Given the description of an element on the screen output the (x, y) to click on. 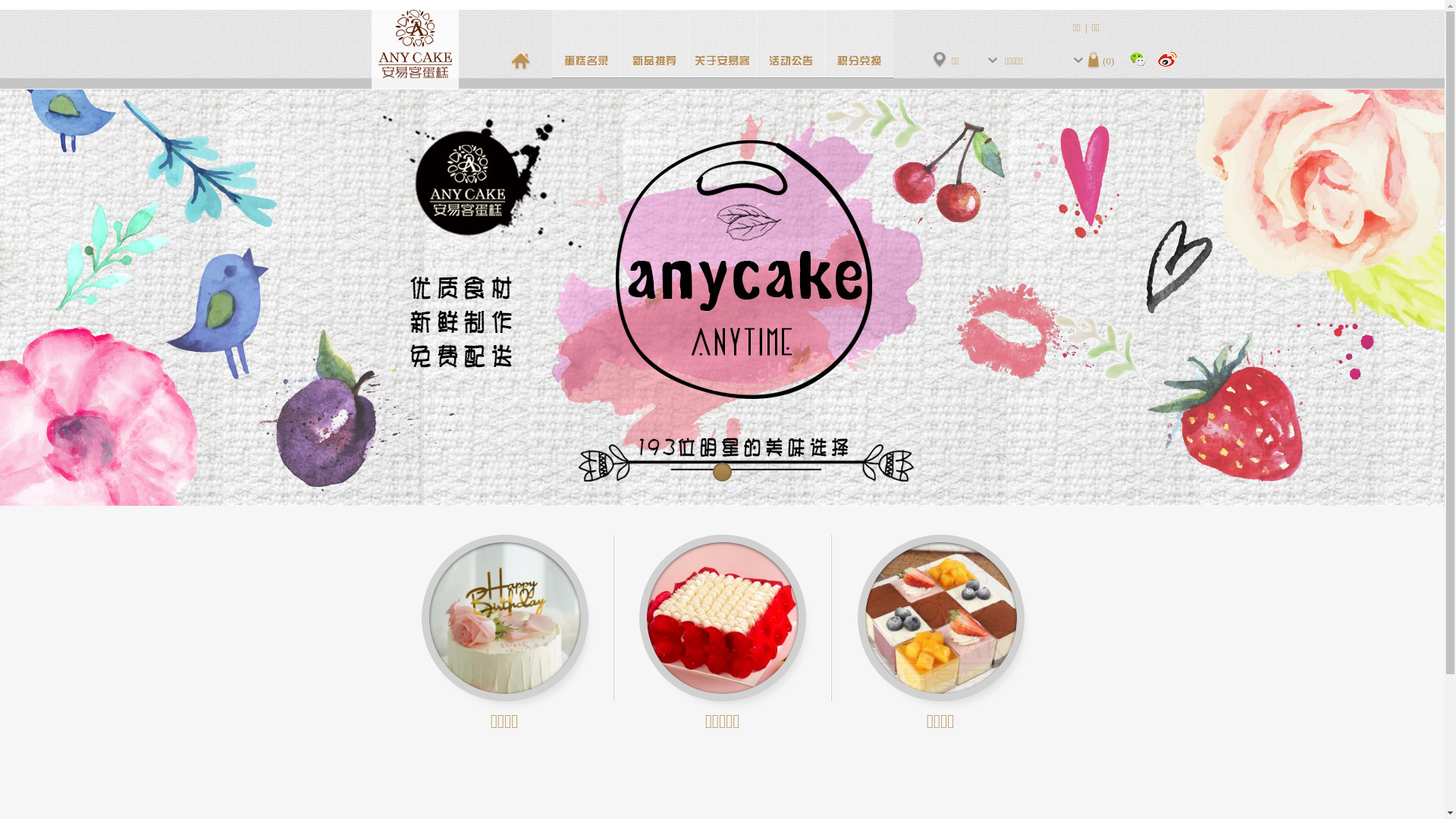
1 Element type: text (721, 472)
(0) Element type: text (1100, 60)
